Given the description of an element on the screen output the (x, y) to click on. 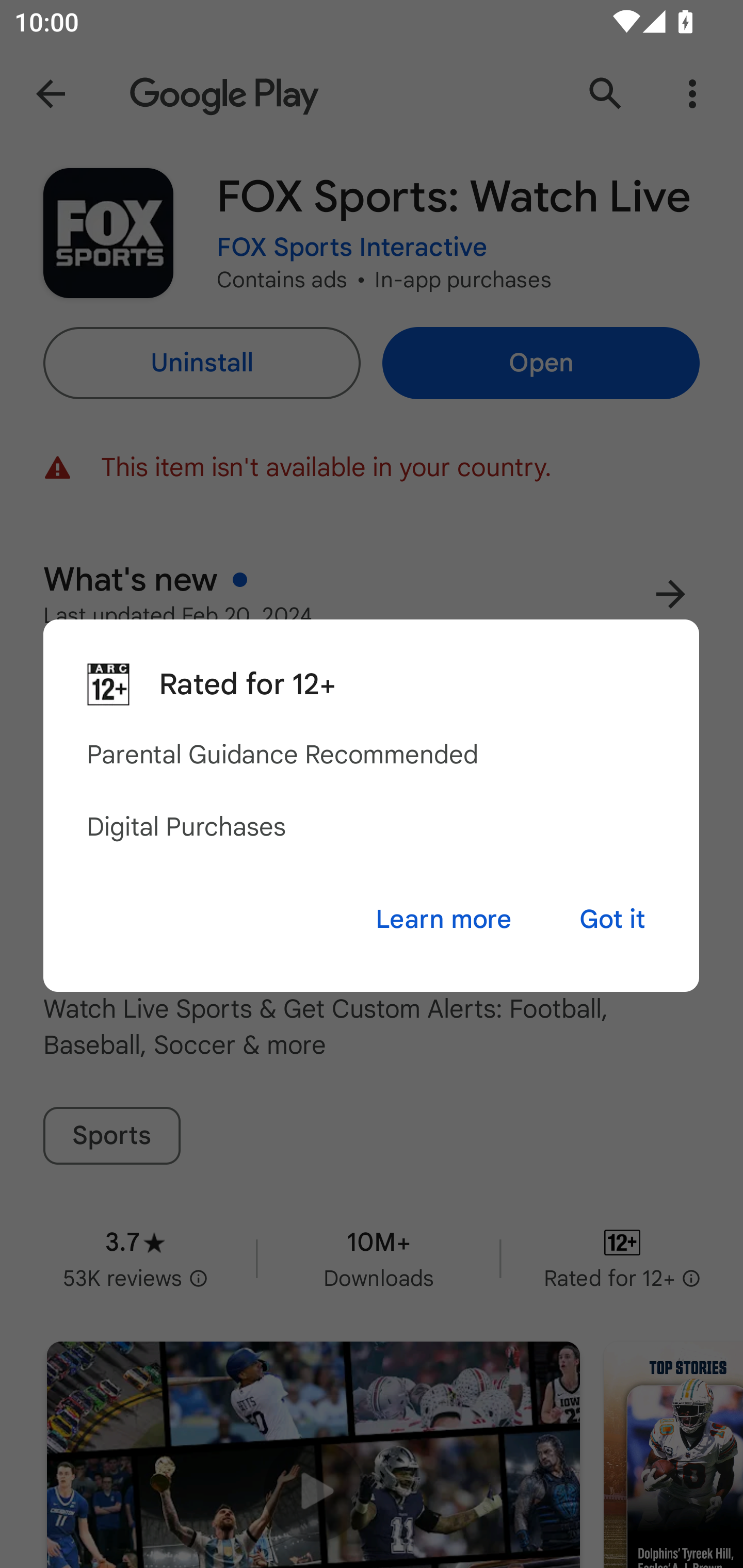
Learn more (443, 919)
Got it (612, 919)
